Given the description of an element on the screen output the (x, y) to click on. 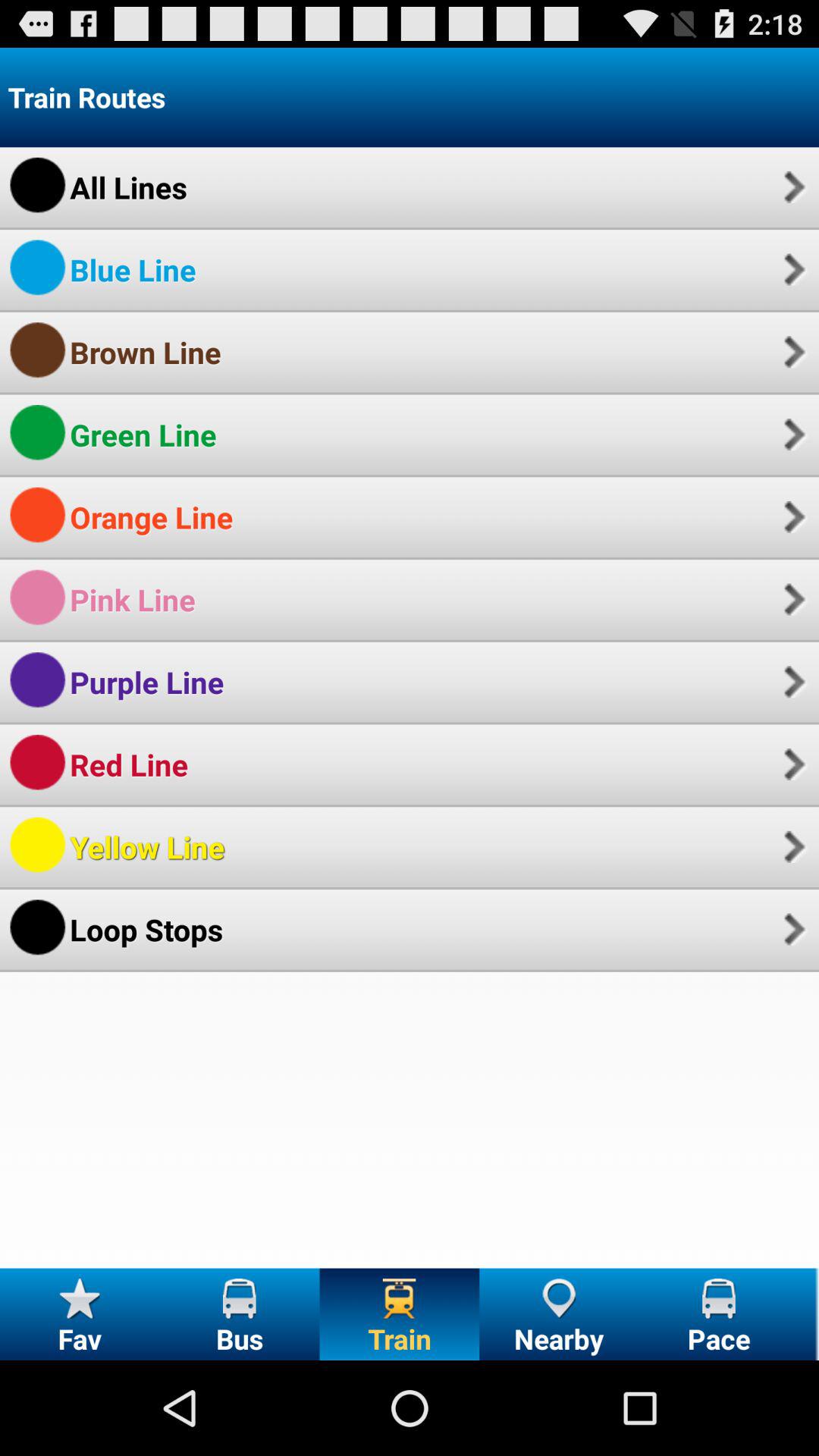
turn off app next to the green line (792, 434)
